Given the description of an element on the screen output the (x, y) to click on. 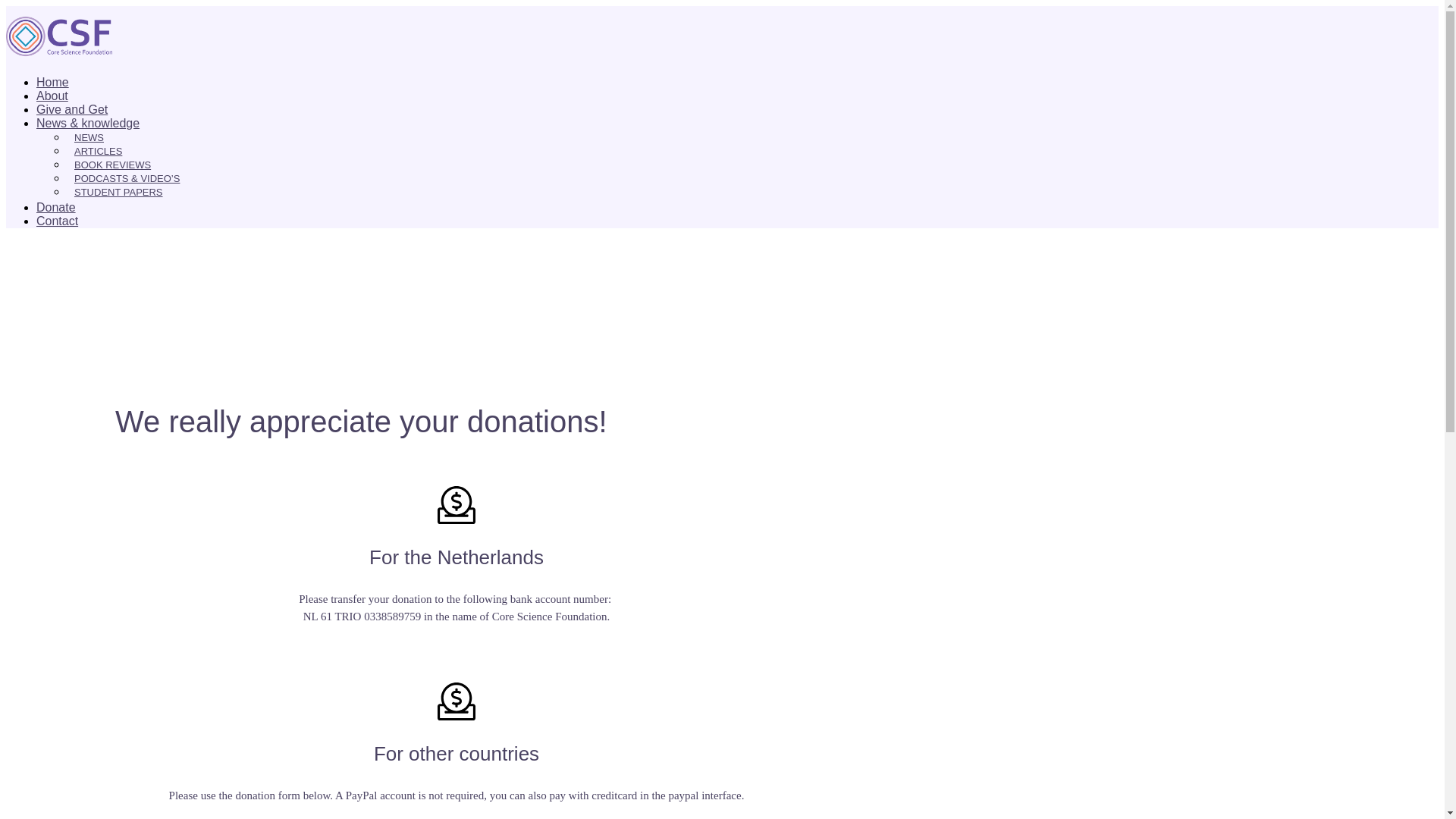
About (52, 95)
Contact (57, 220)
STUDENT PAPERS (118, 192)
Give and Get (71, 109)
BOOK REVIEWS (112, 164)
Home (52, 82)
ARTICLES (98, 151)
NEWS (88, 137)
Donate (55, 206)
